Given the description of an element on the screen output the (x, y) to click on. 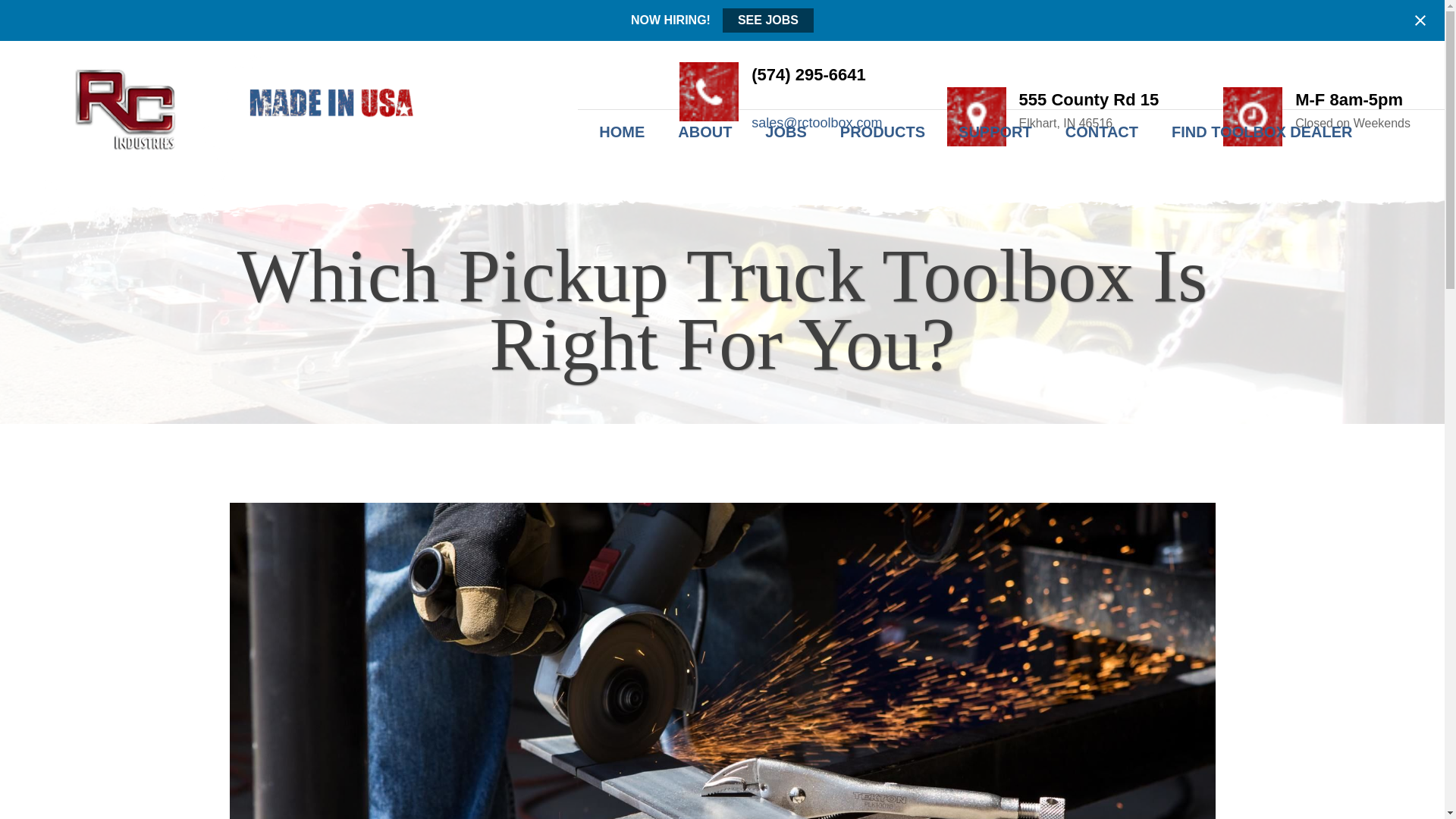
FIND TOOLBOX DEALER (1262, 131)
SEE JOBS (767, 20)
JOBS (785, 131)
PRODUCTS (883, 131)
HOME (629, 131)
ABOUT (704, 131)
SUPPORT (995, 131)
CONTACT (1101, 131)
